Given the description of an element on the screen output the (x, y) to click on. 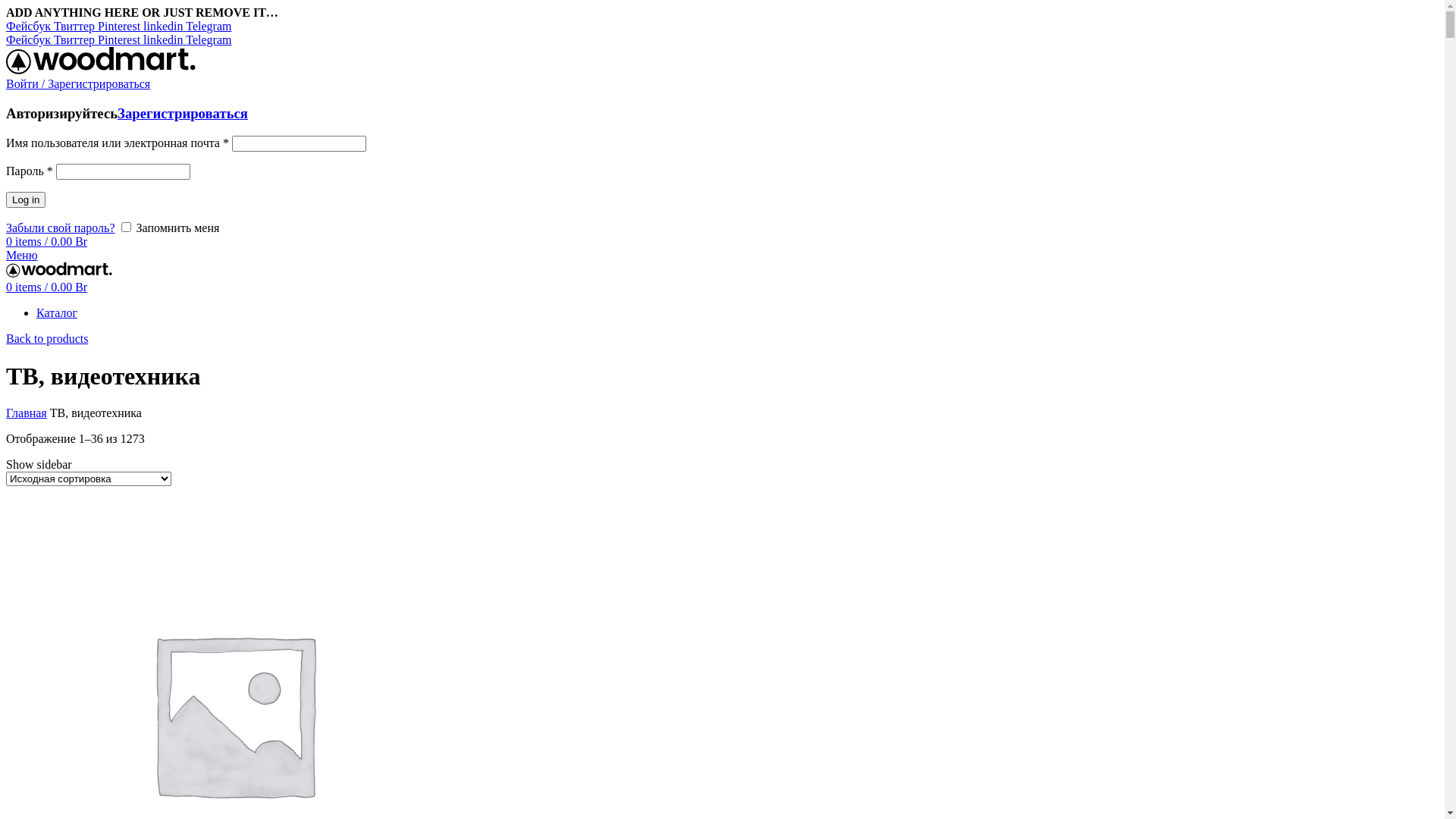
Log in Element type: text (25, 199)
Telegram Element type: text (208, 25)
Pinterest Element type: text (120, 39)
0 items / 0.00 Br Element type: text (46, 286)
linkedin Element type: text (164, 25)
Back to products Element type: text (46, 338)
Telegram Element type: text (208, 39)
Pinterest Element type: text (120, 25)
0 items / 0.00 Br Element type: text (46, 241)
linkedin Element type: text (164, 39)
